Given the description of an element on the screen output the (x, y) to click on. 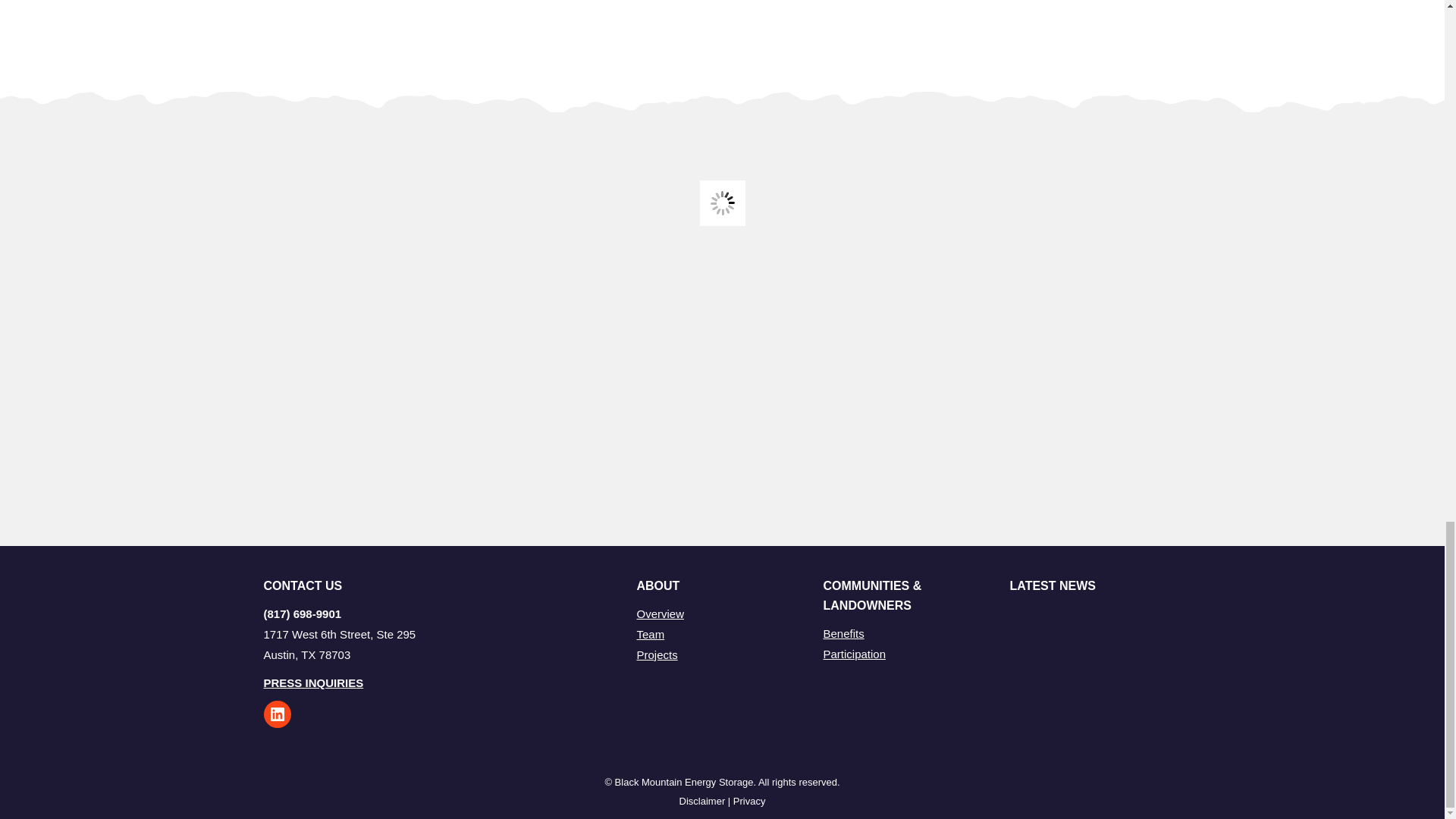
Projects (657, 654)
Team (651, 634)
Participation (855, 653)
Overview (660, 613)
PRESS INQUIRIES (313, 682)
quotes (721, 203)
Benefits (844, 633)
LinkedIn (277, 714)
